Given the description of an element on the screen output the (x, y) to click on. 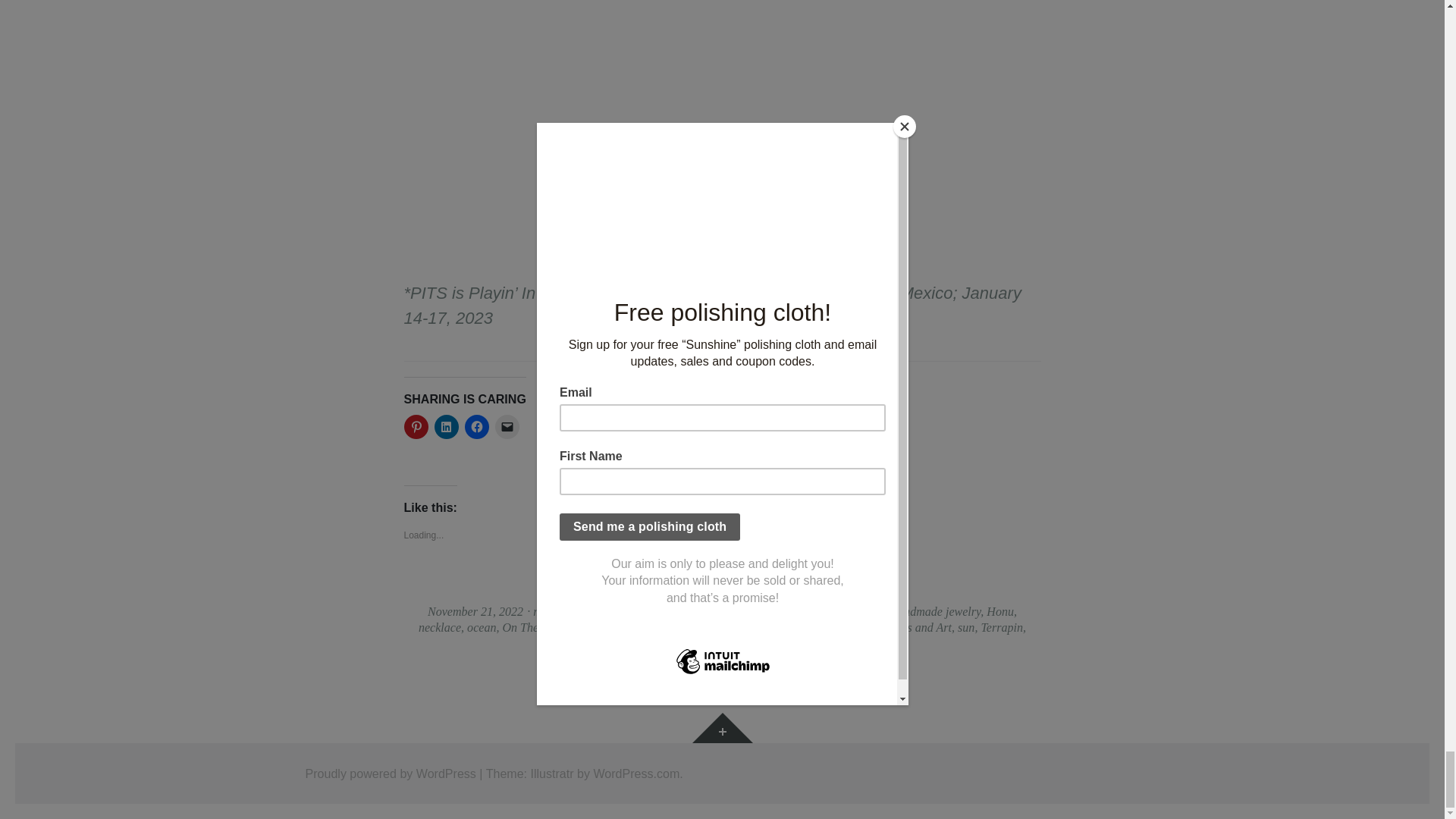
Click to share on Pinterest (415, 426)
Click to email a link to a friend (506, 426)
Click to share on Facebook (475, 426)
Click to share on LinkedIn (445, 426)
